Given the description of an element on the screen output the (x, y) to click on. 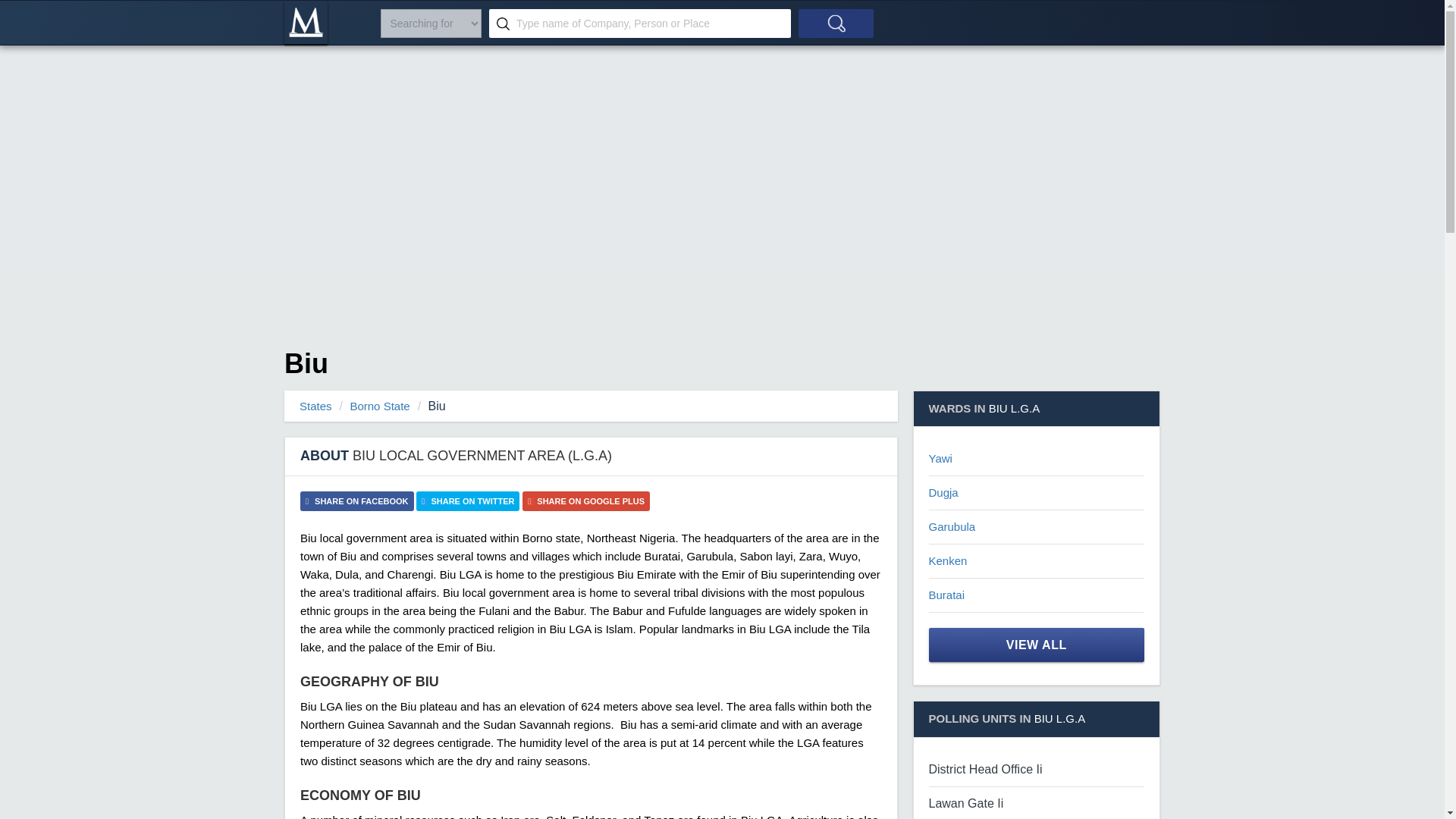
Garubula (951, 526)
POLLING UNITS IN BIU L.G.A (1035, 719)
Yawi (940, 458)
Dugja (943, 492)
Buratai (945, 594)
SHARE ON FACEBOOK (356, 501)
Borno State (379, 405)
WARDS IN BIU L.G.A (1035, 408)
VIEW ALL (1036, 644)
SHARE ON TWITTER (467, 501)
SHARE ON GOOGLE PLUS (585, 501)
Kenken (947, 560)
States (315, 405)
